Given the description of an element on the screen output the (x, y) to click on. 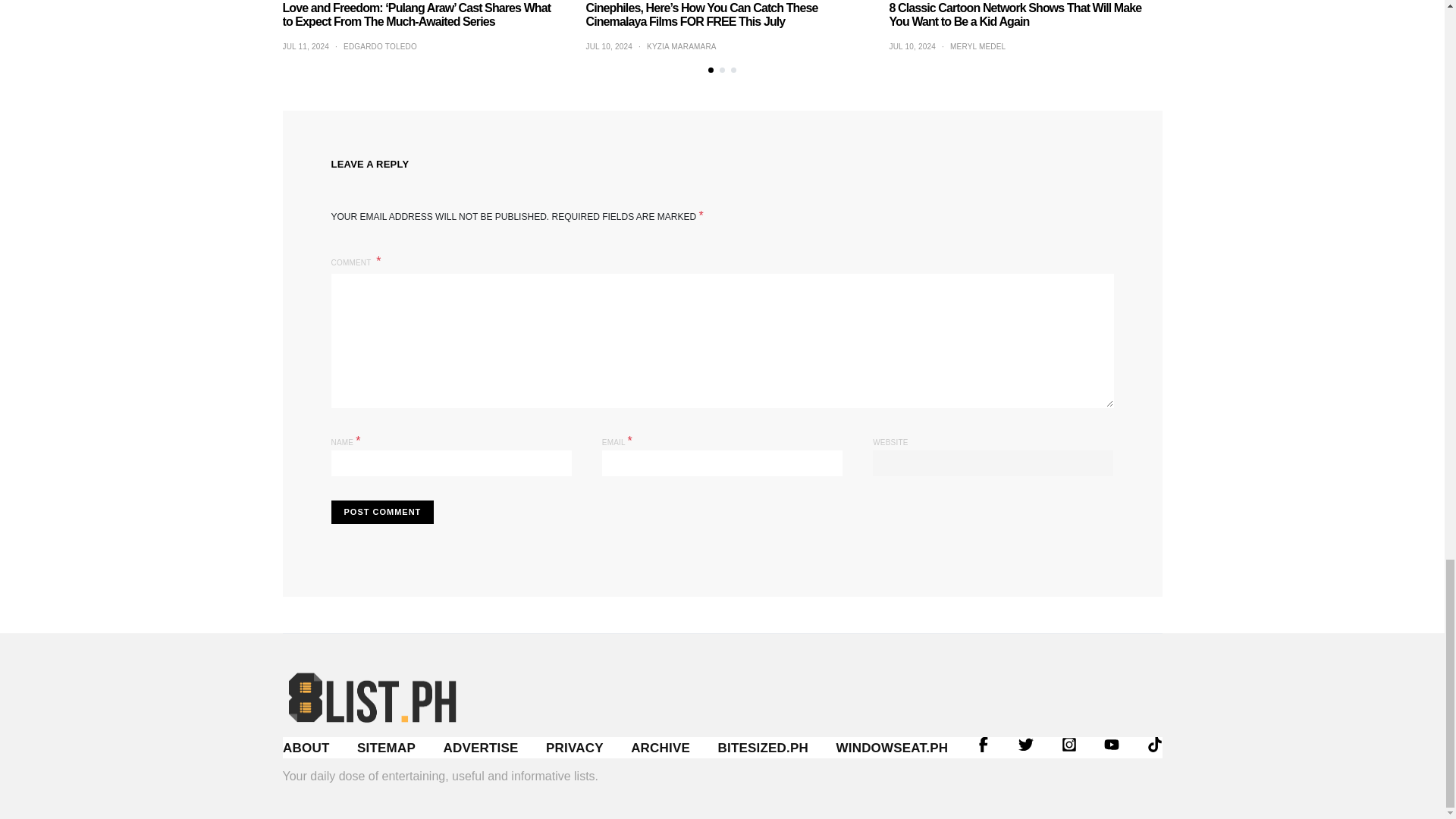
View all posts by Edgardo Toledo (379, 46)
Post Comment (381, 512)
View all posts by Meryl Medel (978, 46)
View all posts by Kyzia Maramara (681, 46)
